Given the description of an element on the screen output the (x, y) to click on. 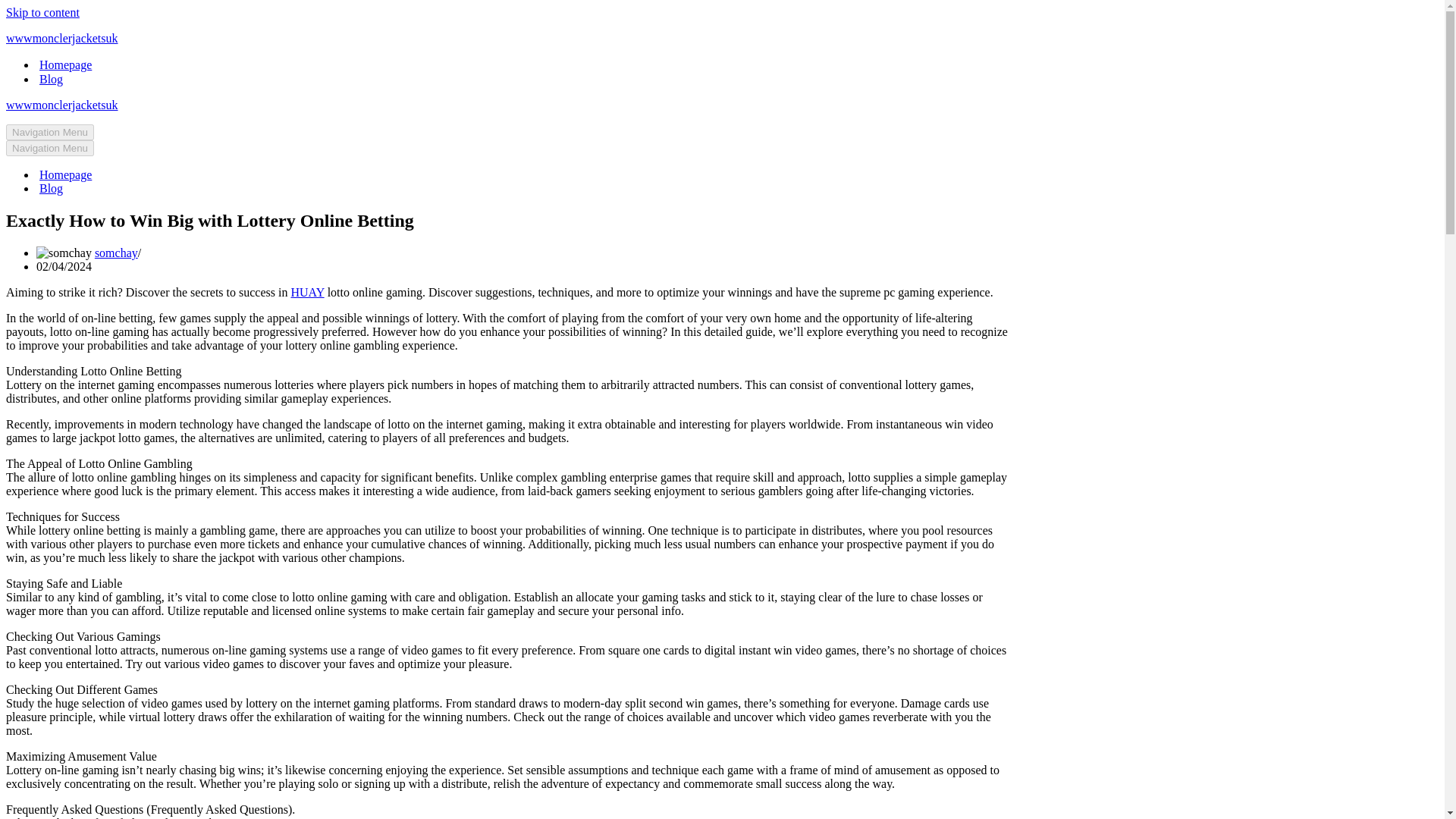
HUAY (306, 291)
Blog (50, 188)
Skip to content (42, 11)
Navigation Menu (49, 148)
somchay (116, 252)
Blog (50, 79)
Homepage (65, 174)
Navigation Menu (49, 132)
Homepage (65, 64)
Posts by somchay (116, 252)
